Given the description of an element on the screen output the (x, y) to click on. 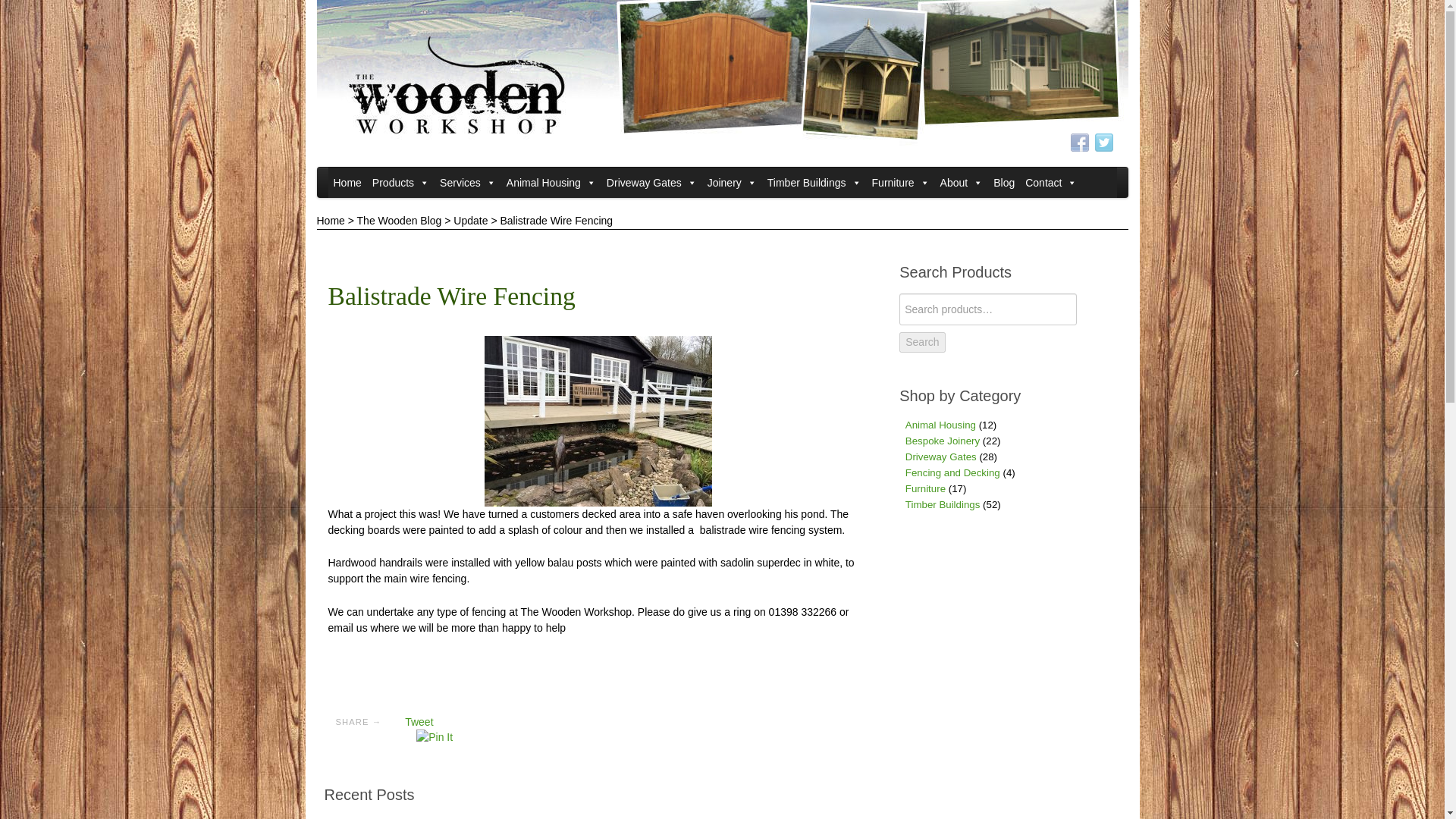
Go to The Wooden Blog. (399, 220)
Furniture (900, 182)
Go to the Update category archives. (469, 220)
Pin It (434, 736)
Services (466, 182)
Driveway Gates (651, 182)
Joinery (731, 182)
Home (346, 182)
Products (399, 182)
Animal Housing (550, 182)
The Wooden Blog (1004, 182)
Timber Buildings (813, 182)
